Given the description of an element on the screen output the (x, y) to click on. 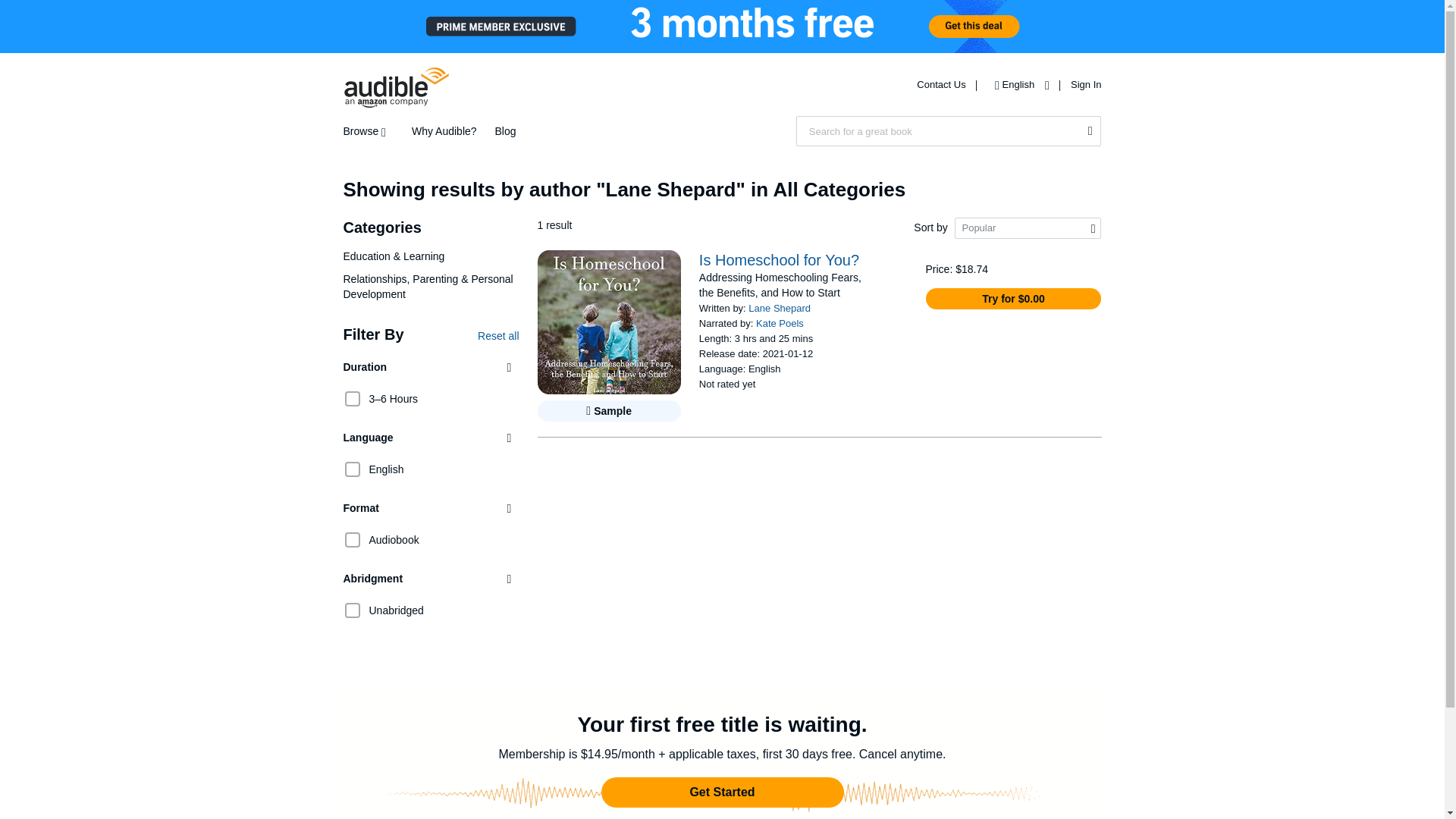
Blog (505, 131)
20971822011 (352, 539)
Sign In (1085, 84)
Reset all (497, 336)
20971817011 (352, 398)
20971852011 (352, 469)
Browse (367, 131)
Contact Us (942, 84)
20971787011 (352, 610)
Why Audible? (444, 131)
English (1018, 84)
Duration (430, 367)
